Given the description of an element on the screen output the (x, y) to click on. 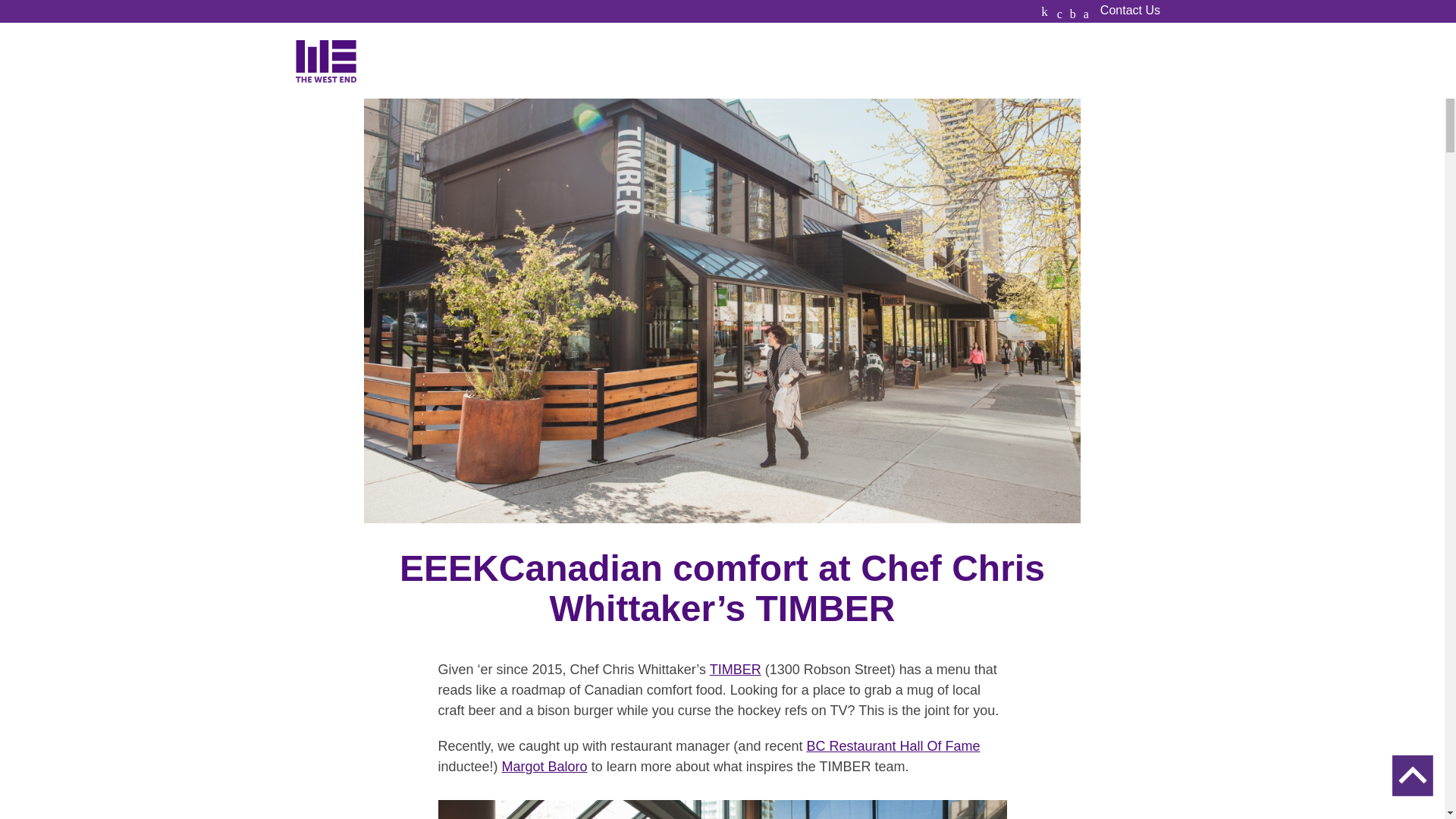
Contact Us (1130, 10)
